Given the description of an element on the screen output the (x, y) to click on. 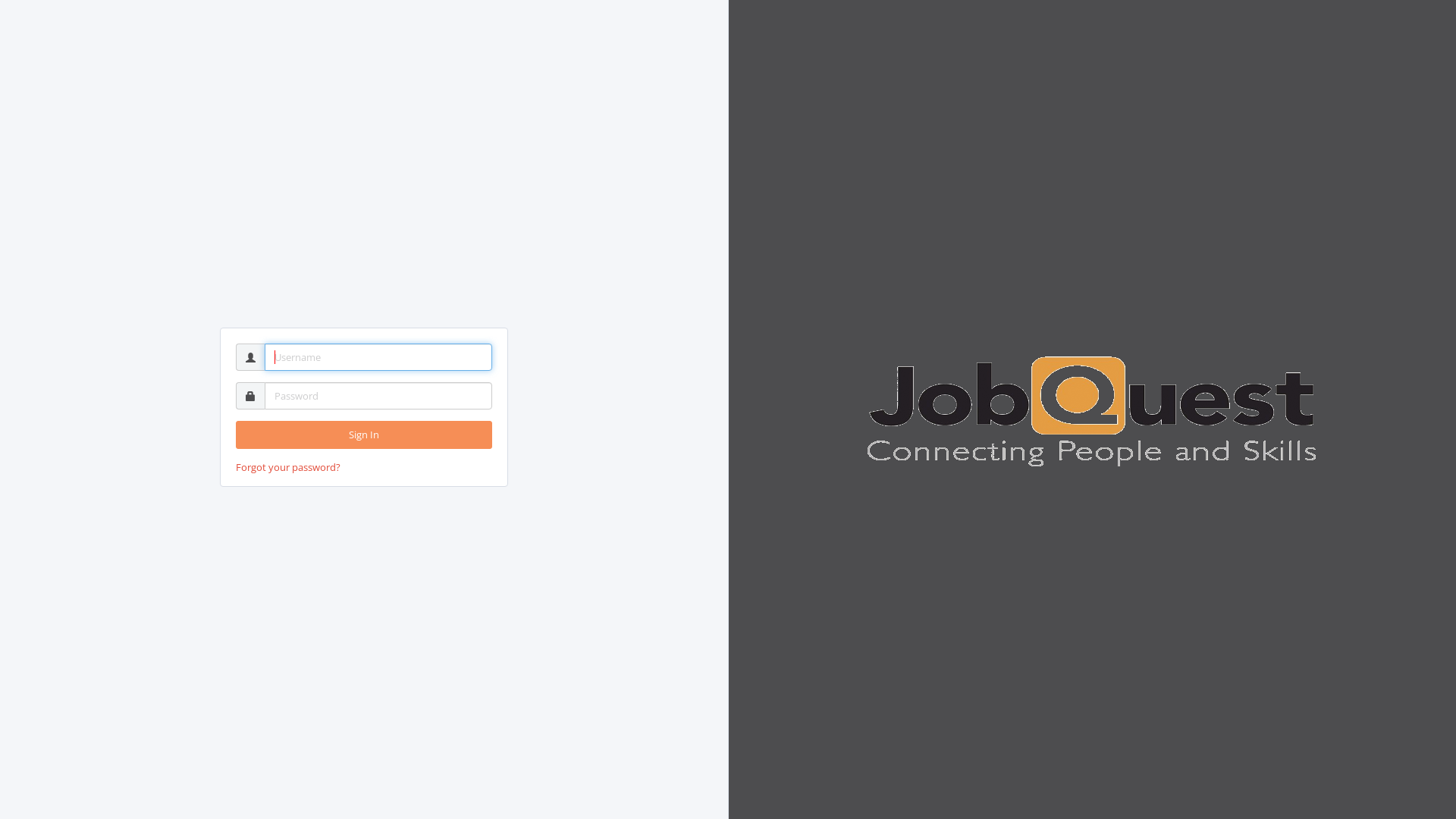
Sign In Element type: text (363, 434)
Forgot your password? Element type: text (287, 466)
